Given the description of an element on the screen output the (x, y) to click on. 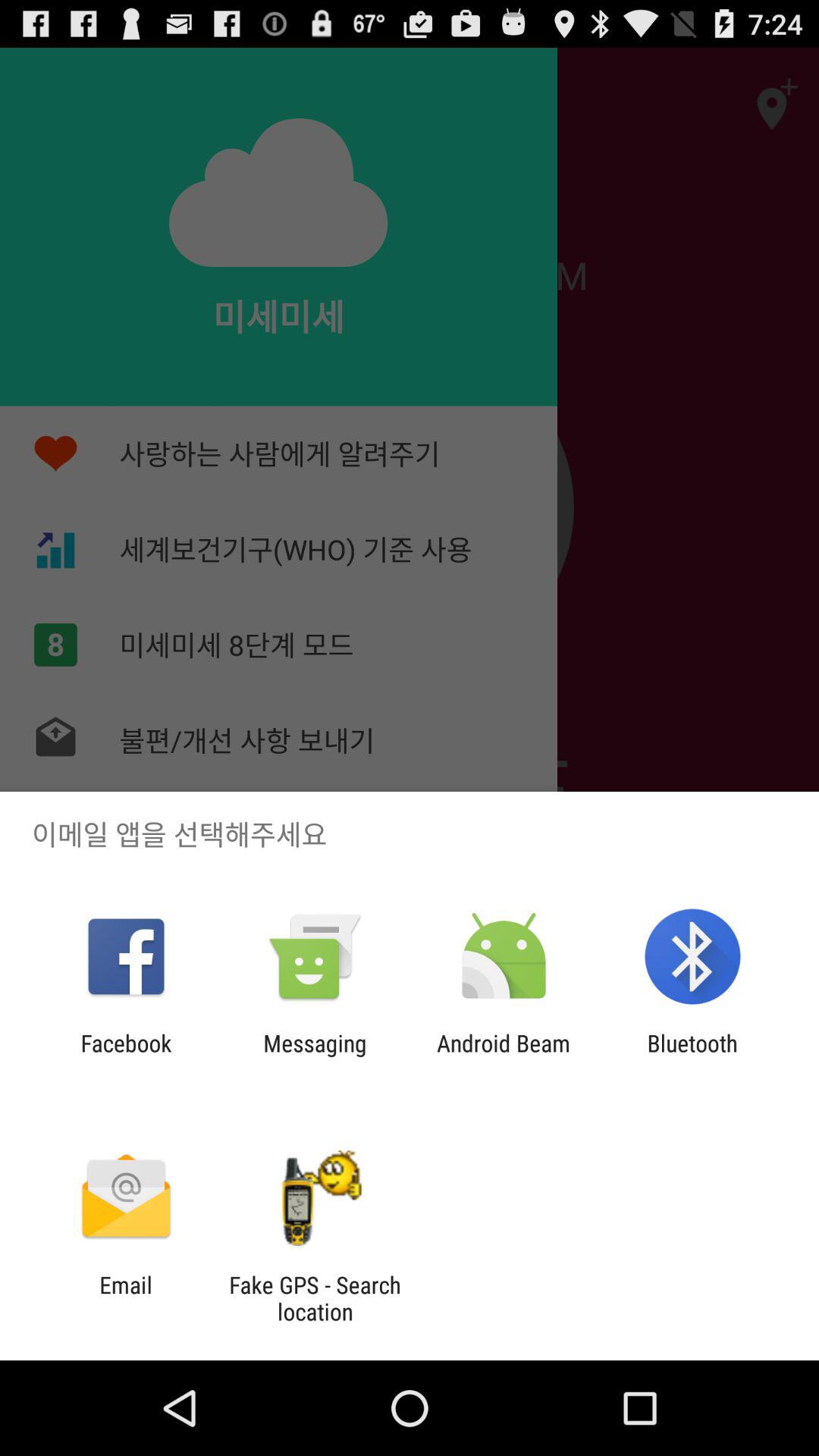
turn on messaging item (314, 1056)
